Given the description of an element on the screen output the (x, y) to click on. 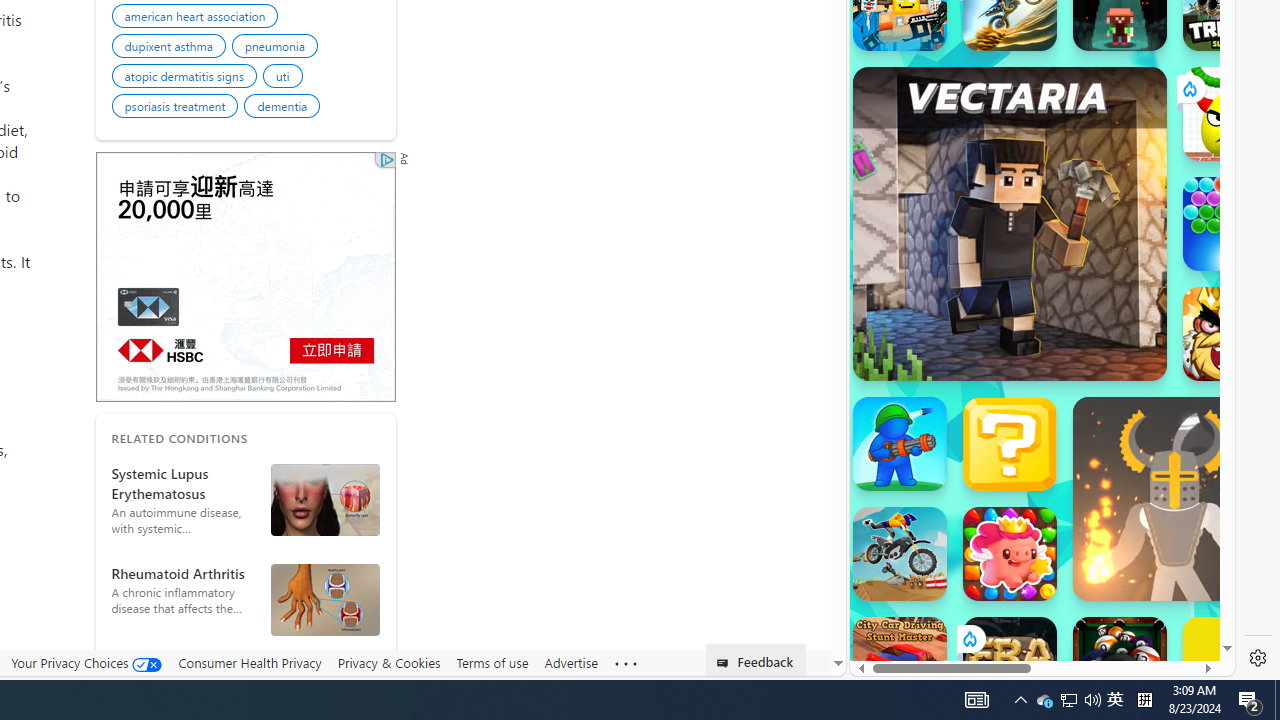
8 Ball Pool With Buddies (1119, 664)
